Given the description of an element on the screen output the (x, y) to click on. 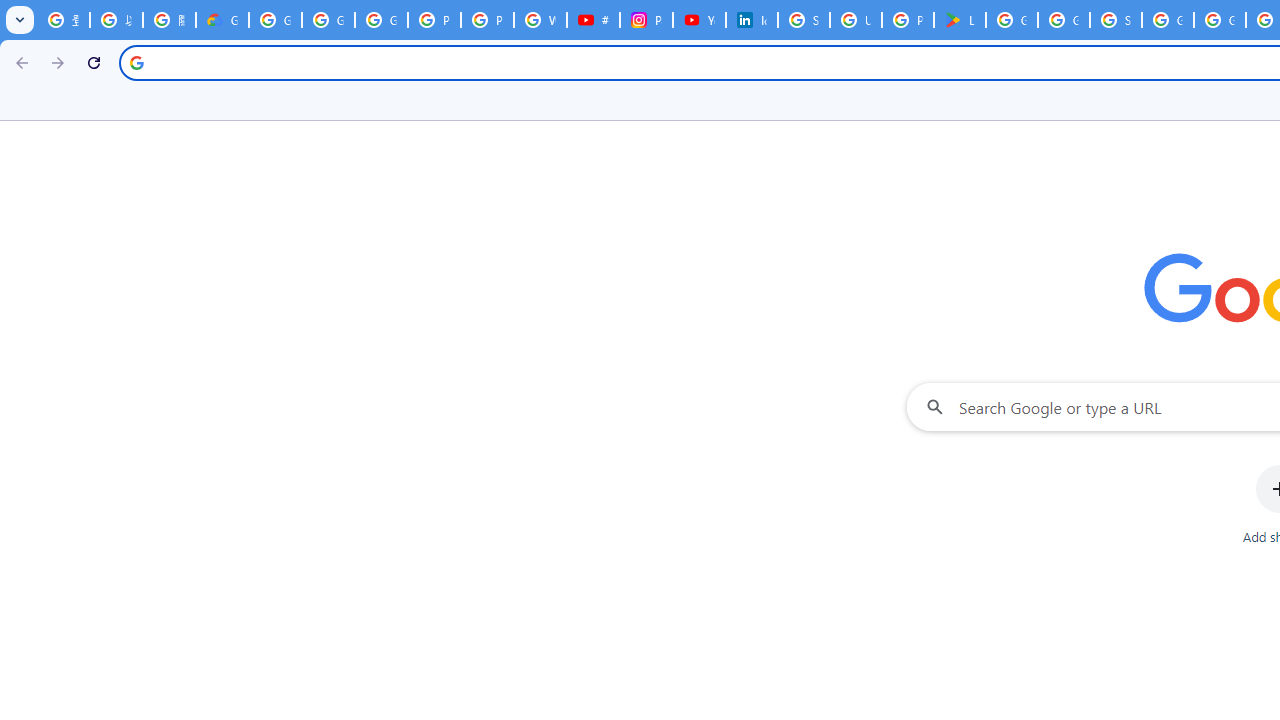
Google Cloud Platform (1219, 20)
Reload (93, 62)
Search tabs (20, 20)
Last Shelter: Survival - Apps on Google Play (959, 20)
System (10, 11)
Google Workspace - Specific Terms (1064, 20)
Search icon (136, 62)
Back (19, 62)
